Given the description of an element on the screen output the (x, y) to click on. 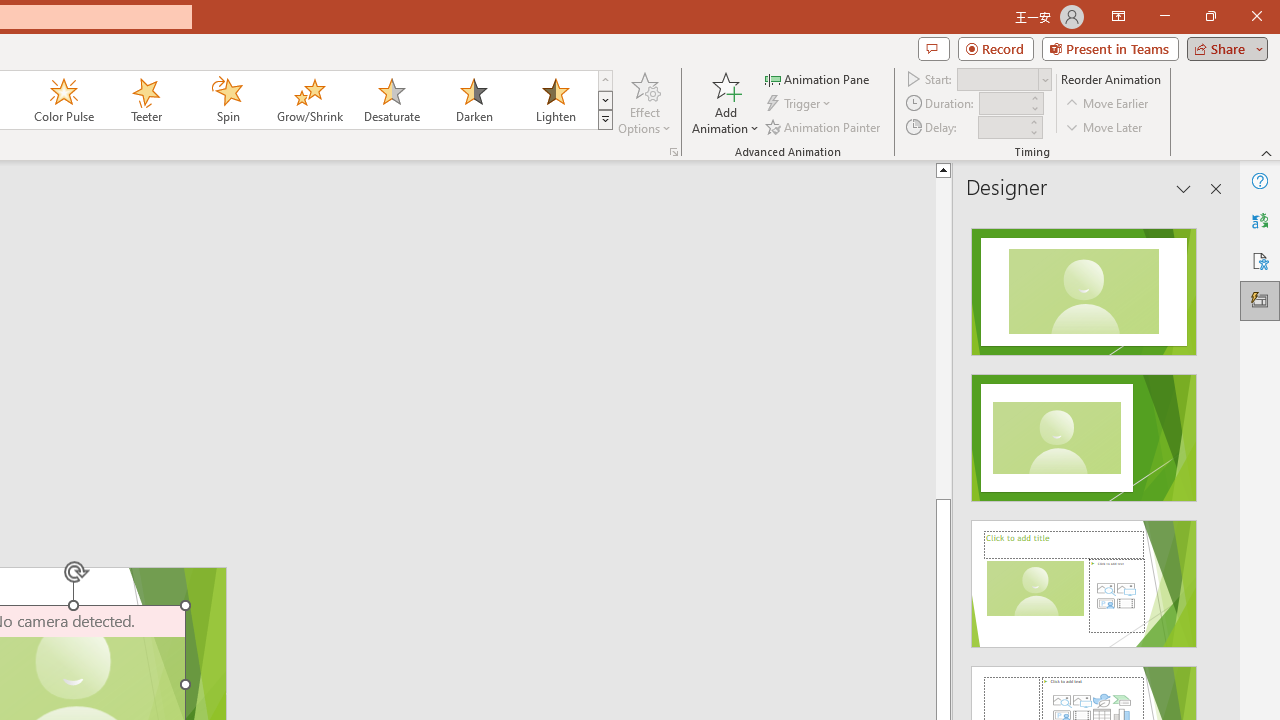
Darken (473, 100)
Animation Duration (1003, 103)
Teeter (145, 100)
More Options... (673, 151)
Add Animation (725, 102)
Spin (227, 100)
Desaturate (391, 100)
Animation Painter (824, 126)
